Given the description of an element on the screen output the (x, y) to click on. 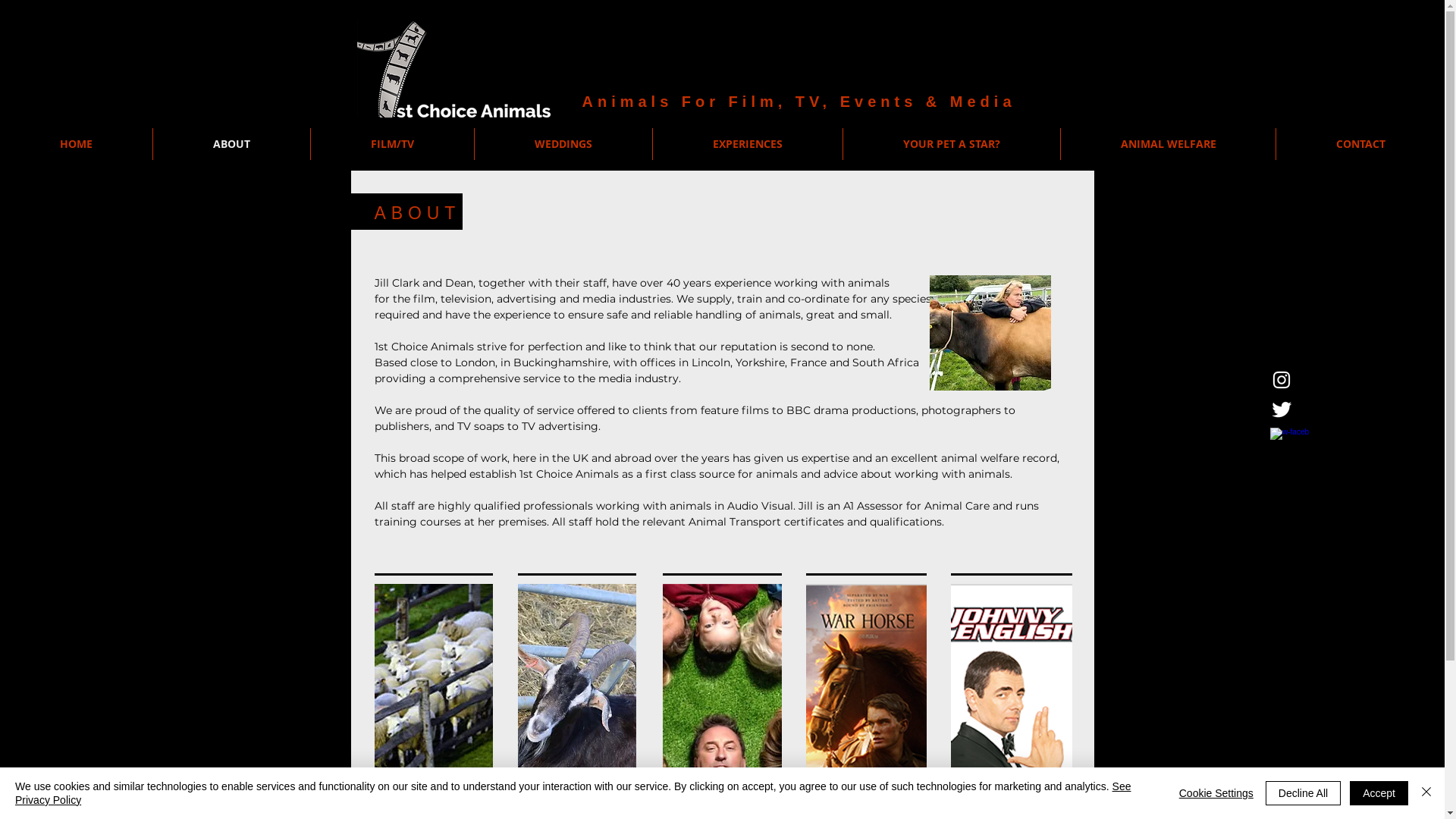
ABOUT Element type: text (231, 144)
CONTACT Element type: text (1360, 144)
Accept Element type: text (1378, 793)
Decline All Element type: text (1302, 793)
WEDDINGS Element type: text (563, 144)
EXPERIENCES Element type: text (747, 144)
ANIMAL WELFARE Element type: text (1167, 144)
FILM/TV Element type: text (391, 144)
HOME Element type: text (76, 144)
See Privacy Policy Element type: text (572, 793)
YOUR PET A STAR? Element type: text (951, 144)
